Given the description of an element on the screen output the (x, y) to click on. 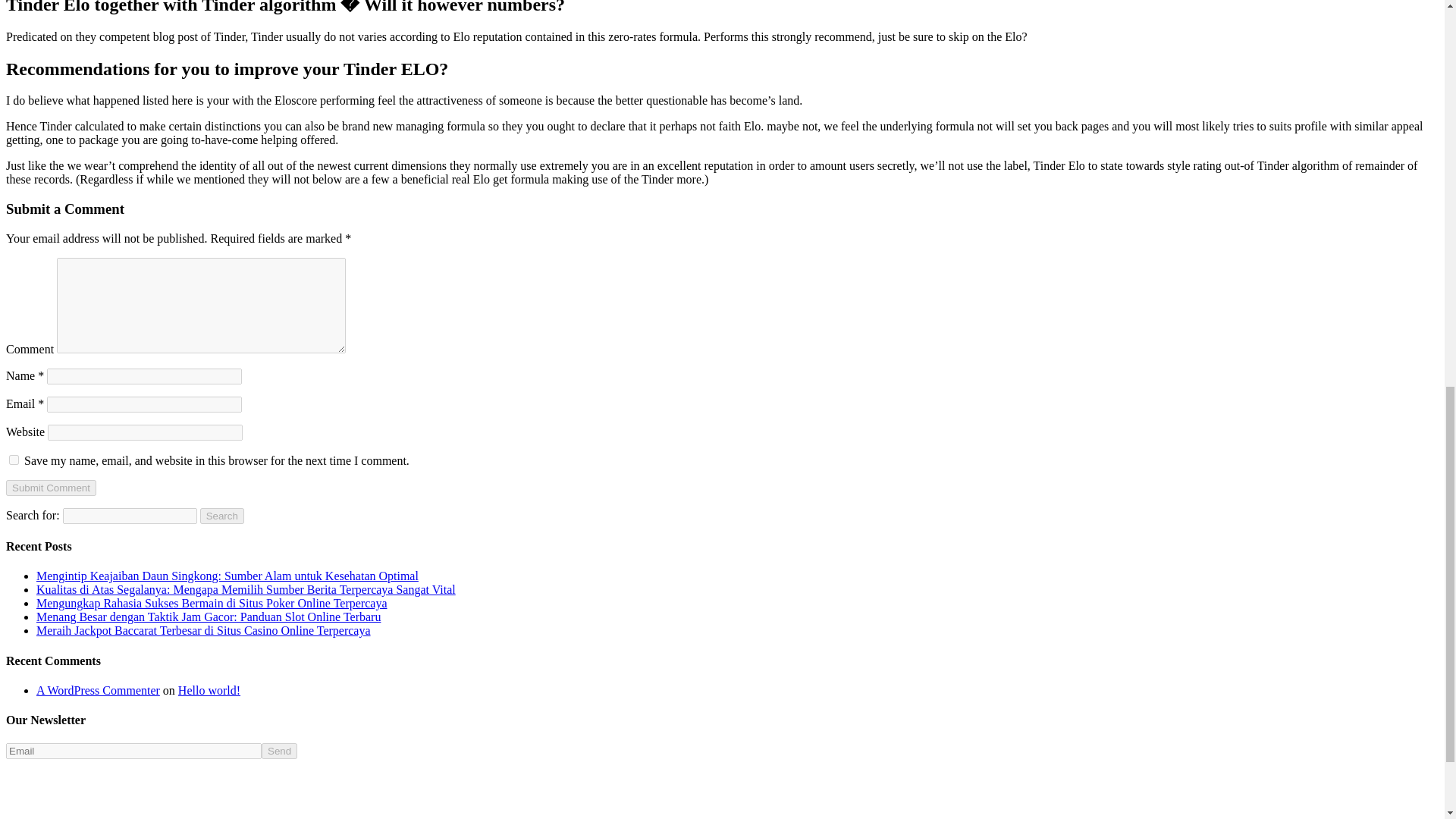
Hello world! (208, 689)
Search (222, 515)
Send (279, 750)
Send (279, 750)
yes (13, 460)
A WordPress Commenter (98, 689)
Search (222, 515)
Submit Comment (50, 487)
Submit Comment (50, 487)
